Given the description of an element on the screen output the (x, y) to click on. 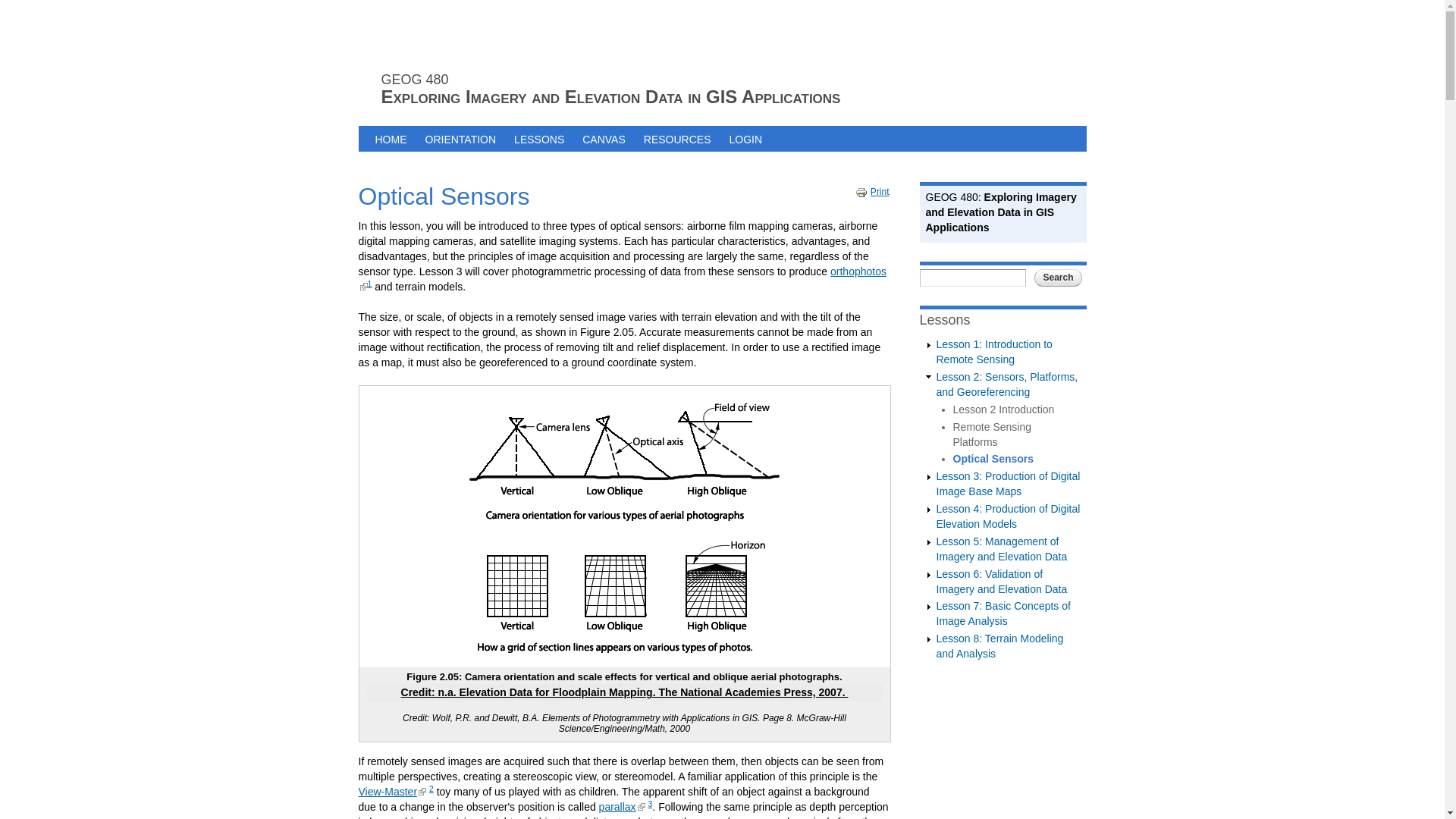
Search (1057, 277)
Print (872, 191)
RESOURCES (677, 138)
LESSONS (539, 138)
Skip to main content (693, 1)
Print (863, 192)
LOGIN (745, 138)
Display a printer-friendly version of this page. (872, 191)
Enter the terms you wish to search for. (971, 277)
HOME (389, 138)
ORIENTATION (459, 138)
CANVAS (603, 138)
